Given the description of an element on the screen output the (x, y) to click on. 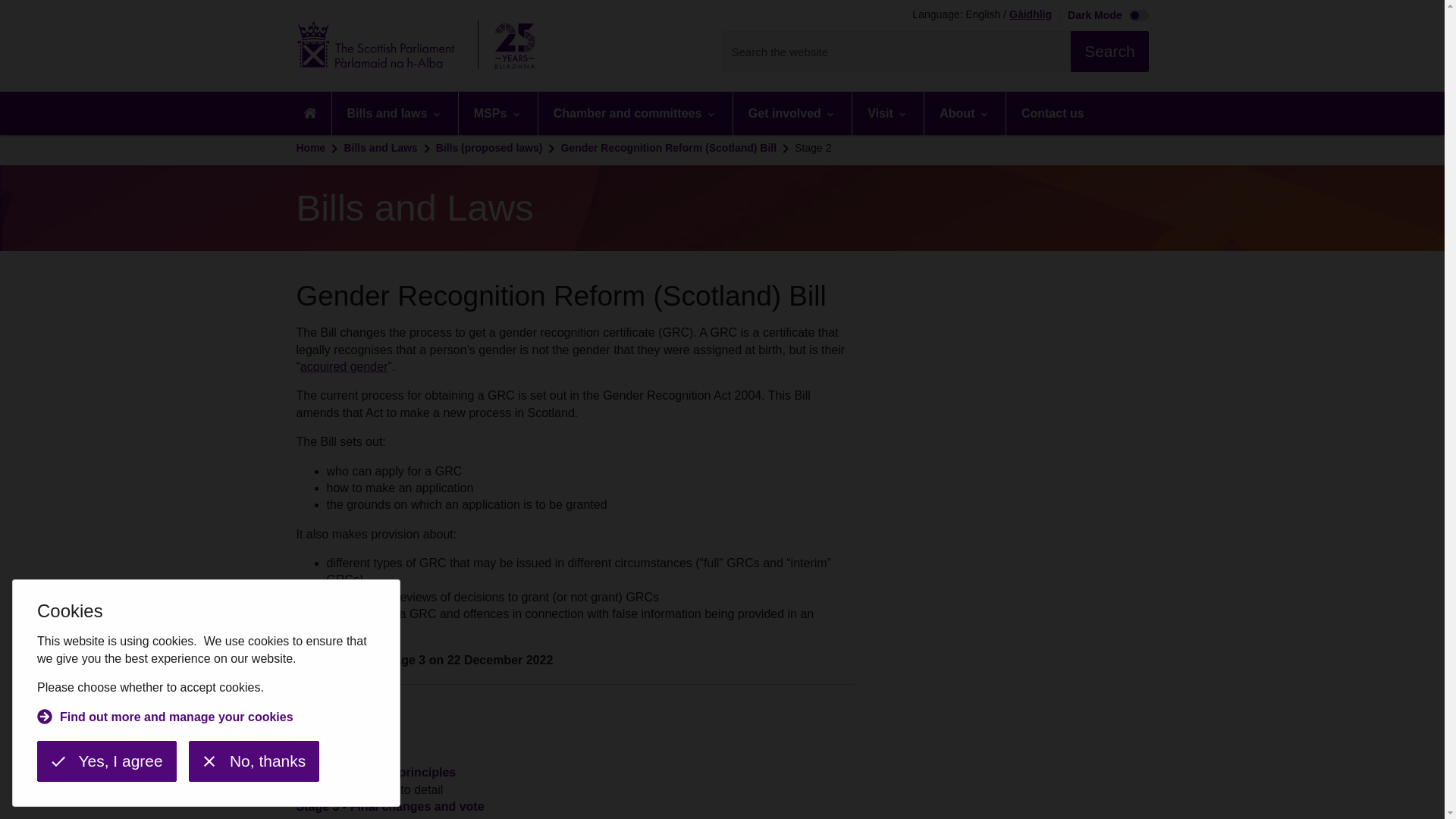
Bills and laws (394, 113)
Yes, I agree (106, 761)
Dark Mode (1103, 16)
Find out more and manage your cookies (165, 718)
No, thanks (252, 761)
MSPs (497, 113)
Scottish Parliament Website home (419, 45)
Chamber and committees (635, 113)
Search (1109, 51)
